Given the description of an element on the screen output the (x, y) to click on. 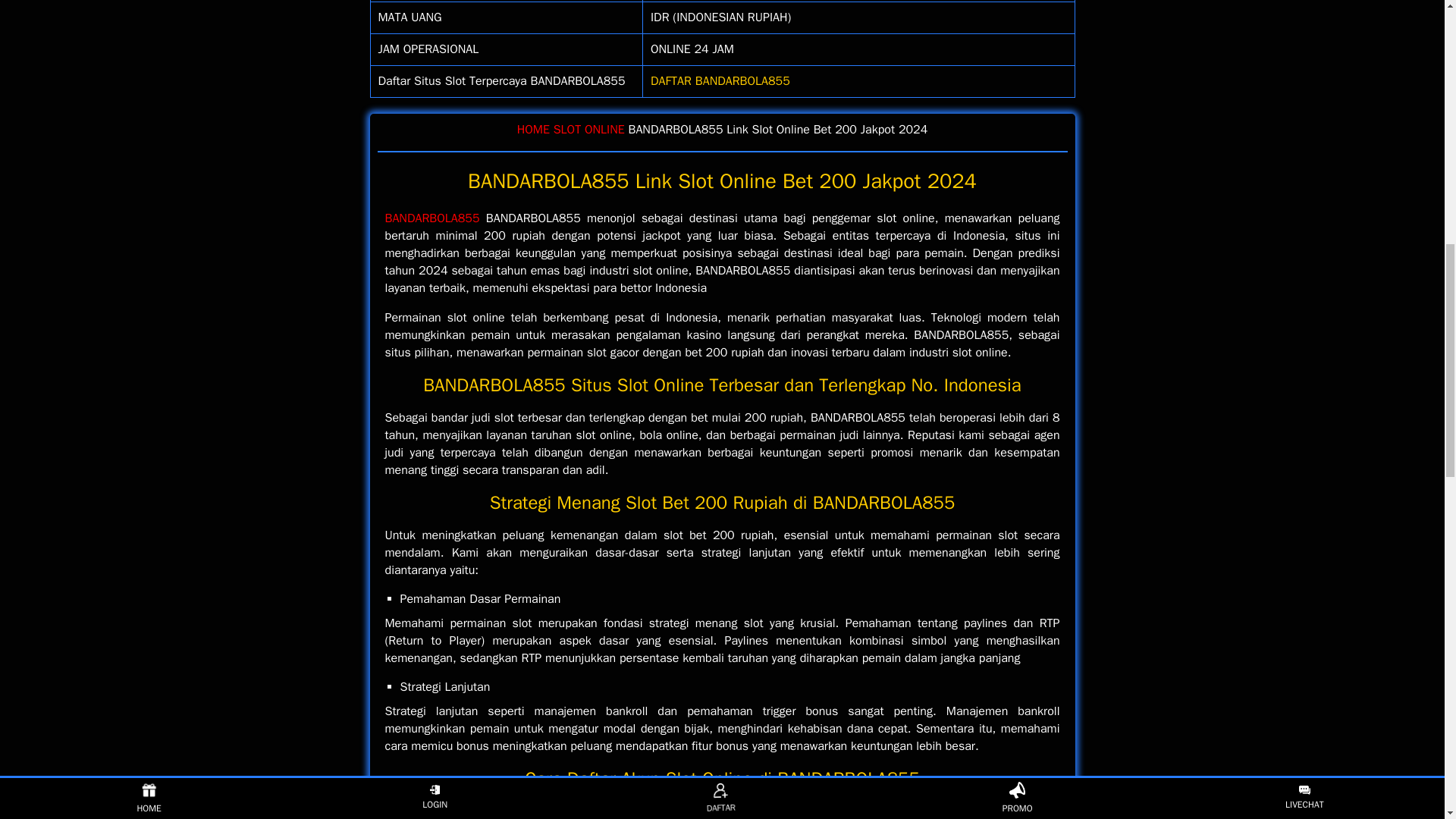
BANDARBOLA855 (432, 218)
DAFTAR BANDARBOLA855 (720, 80)
DAFTAR BANDARBOLA855 (720, 80)
HOME (533, 129)
SLOT ONLINE (588, 129)
